Given the description of an element on the screen output the (x, y) to click on. 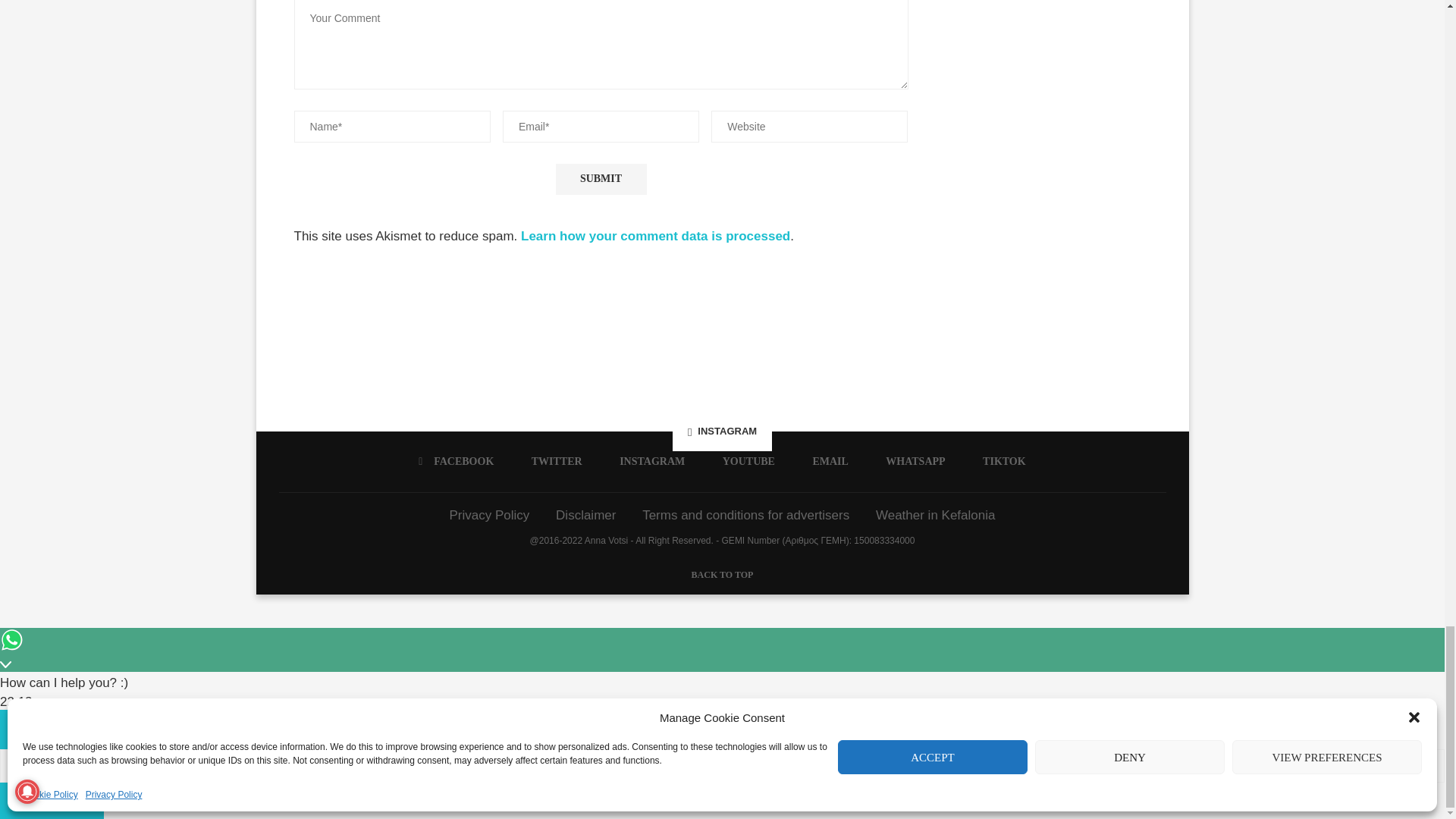
Submit (600, 178)
